Given the description of an element on the screen output the (x, y) to click on. 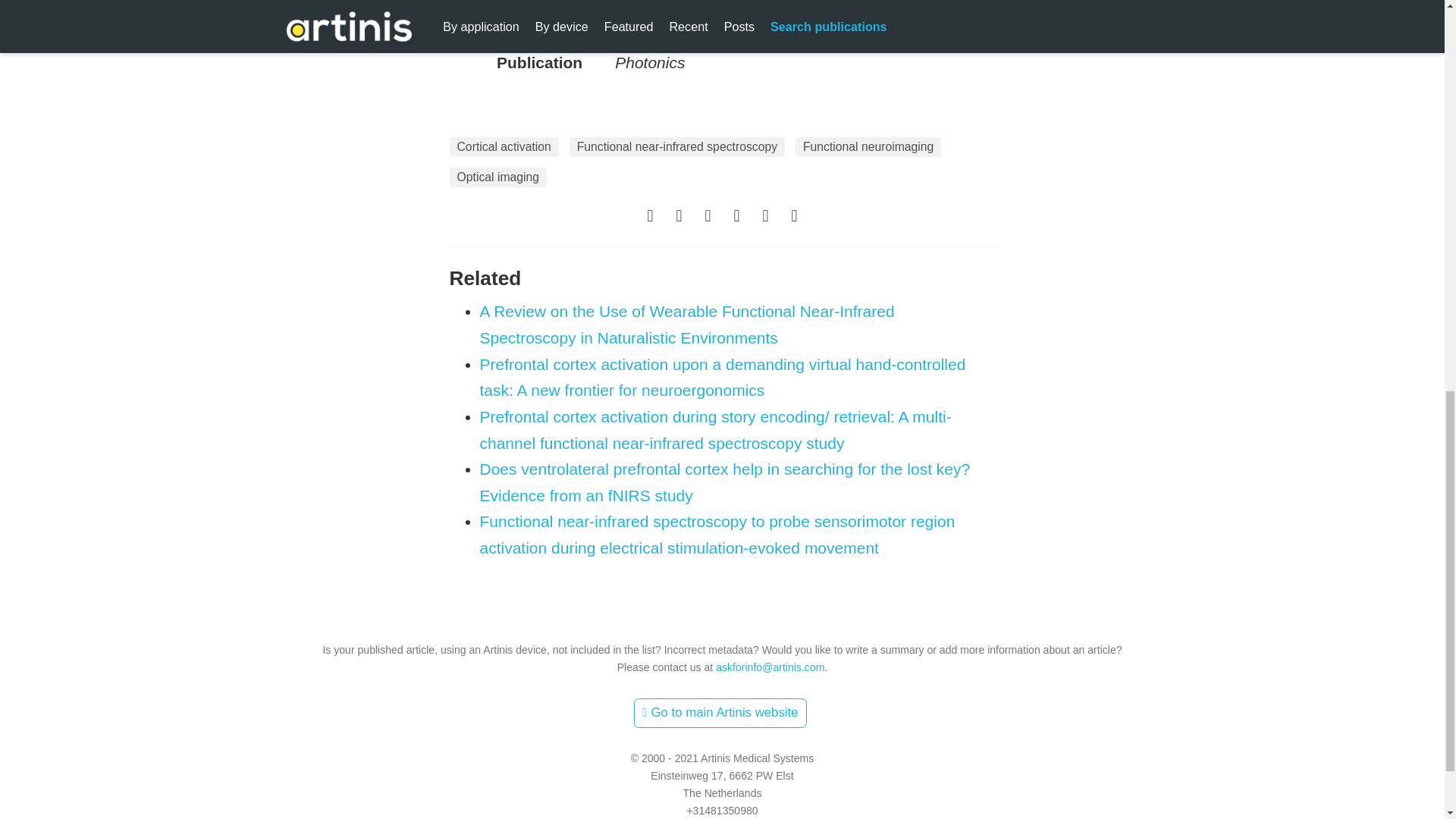
Functional near-infrared spectroscopy (676, 147)
Go to main Artinis website (719, 713)
Cortical activation (502, 147)
Optical imaging (497, 177)
Functional neuroimaging (867, 147)
